Given the description of an element on the screen output the (x, y) to click on. 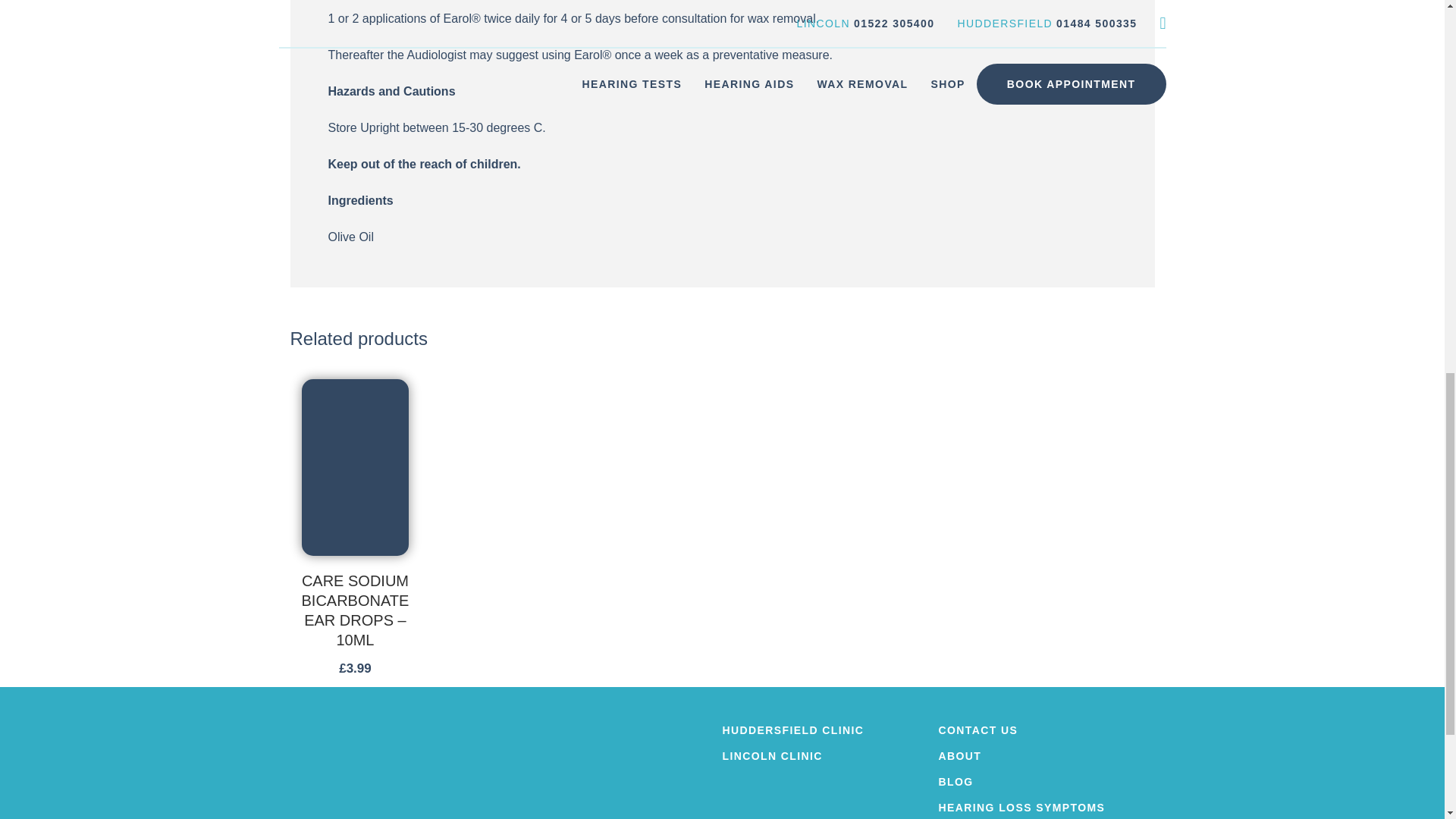
ABOUT (1046, 756)
HUDDERSFIELD CLINIC (829, 729)
CONTACT US (1046, 729)
HEARING LOSS SYMPTOMS (1046, 807)
BLOG (1046, 781)
LINCOLN CLINIC (829, 756)
